Given the description of an element on the screen output the (x, y) to click on. 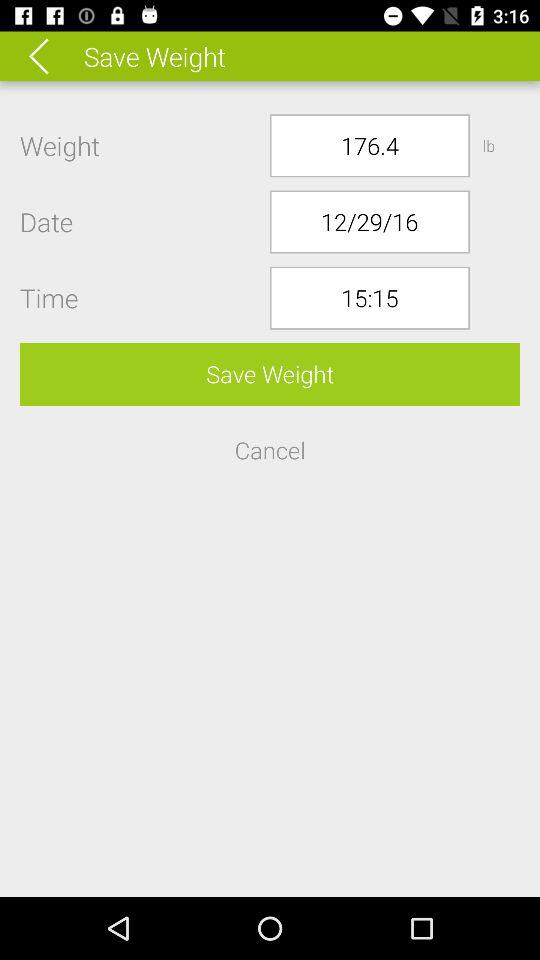
open the 176.4 icon (369, 145)
